Given the description of an element on the screen output the (x, y) to click on. 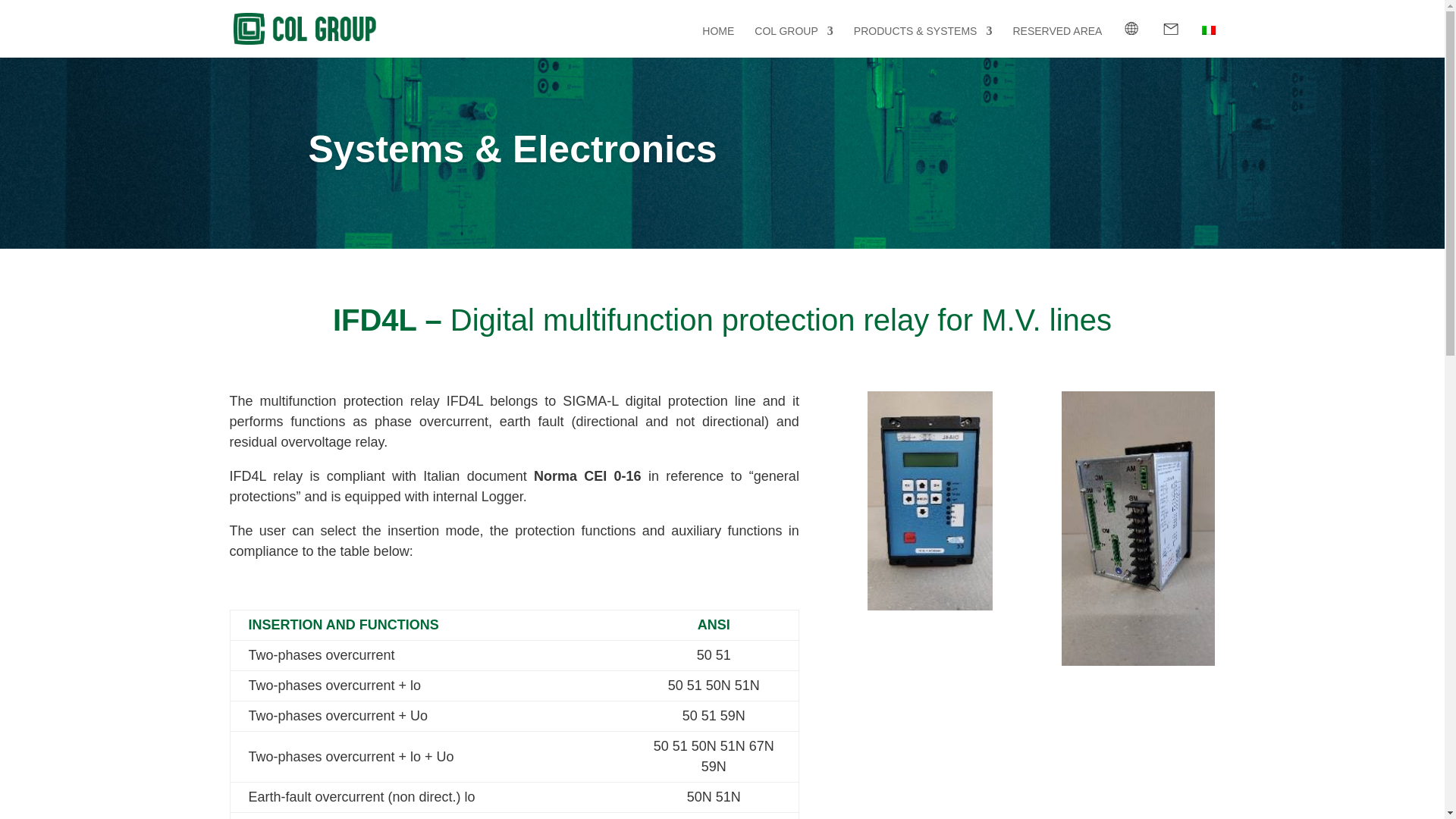
RESERVED AREA (1056, 41)
COL GROUP (793, 41)
HOME (717, 41)
